Given the description of an element on the screen output the (x, y) to click on. 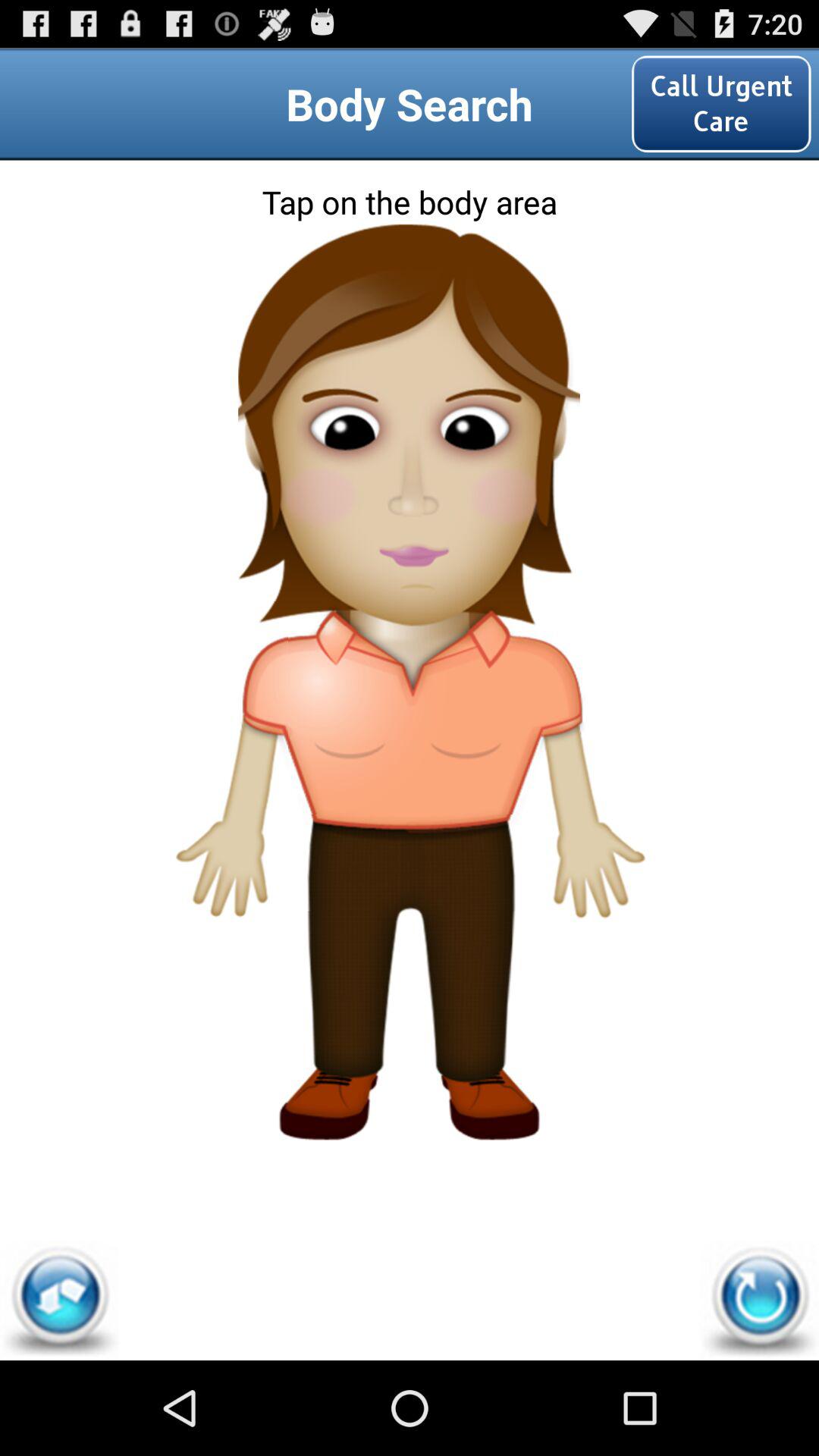
head (409, 290)
